Given the description of an element on the screen output the (x, y) to click on. 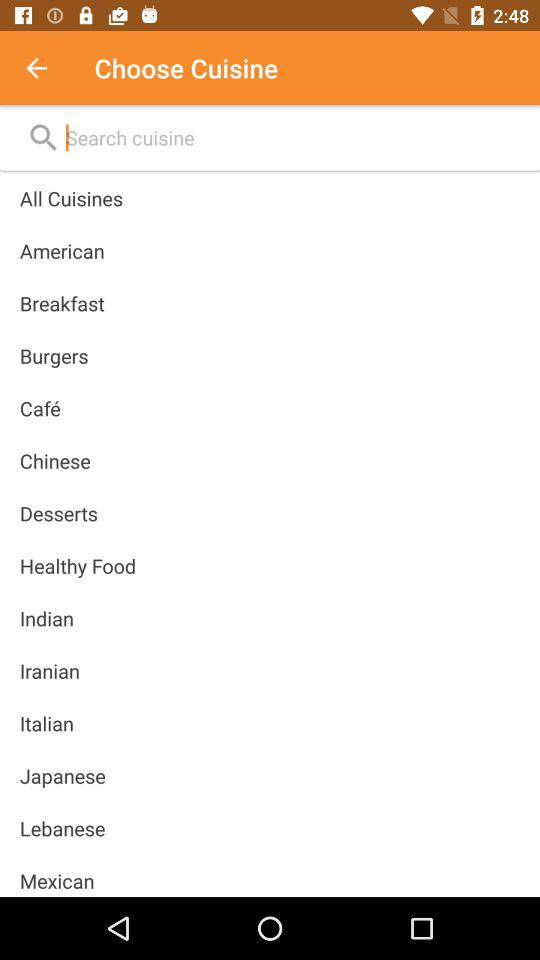
search more (292, 137)
